Given the description of an element on the screen output the (x, y) to click on. 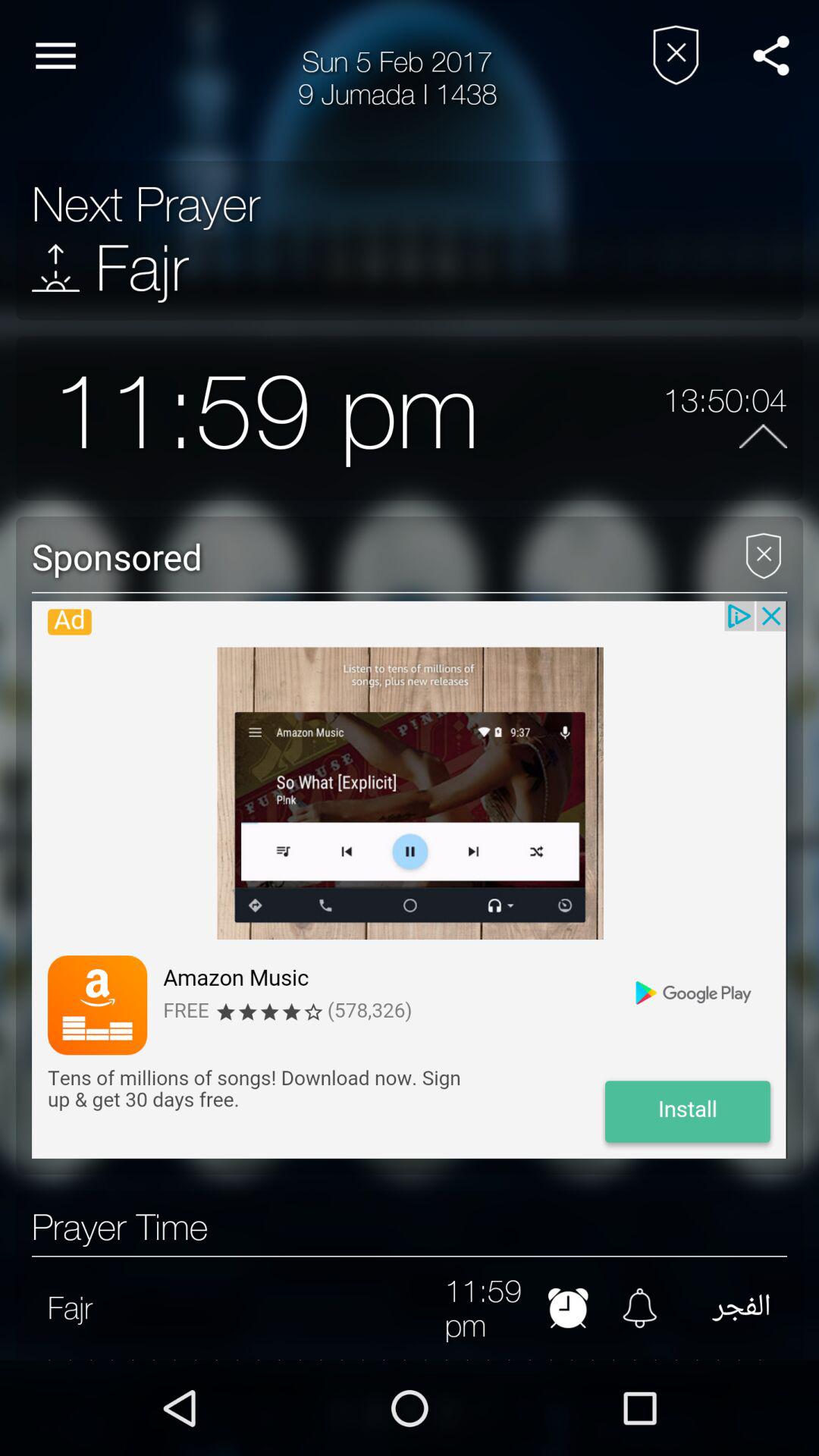
open icon next to the fajr (55, 267)
